Given the description of an element on the screen output the (x, y) to click on. 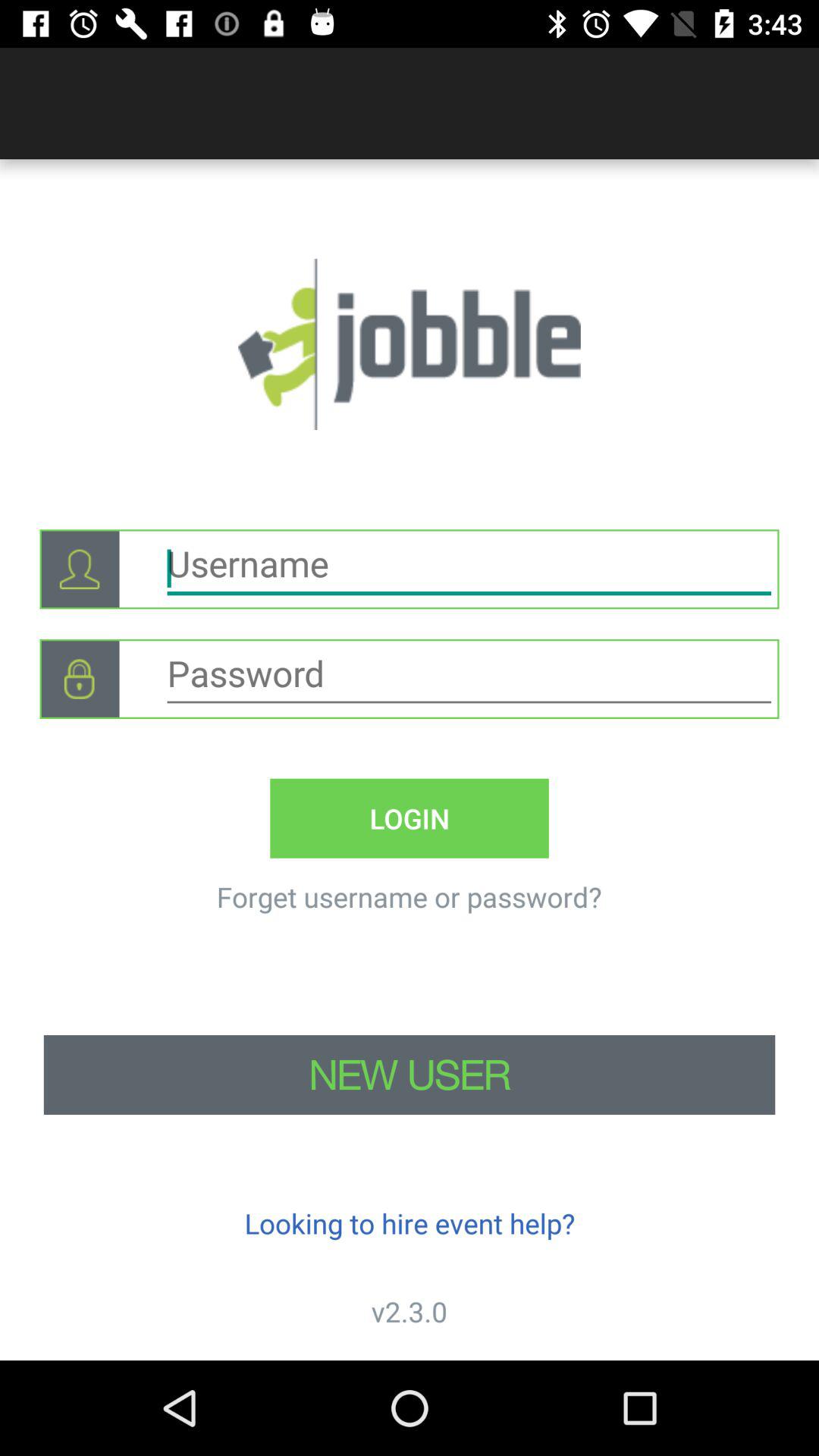
select icon above looking to hire item (409, 1074)
